Given the description of an element on the screen output the (x, y) to click on. 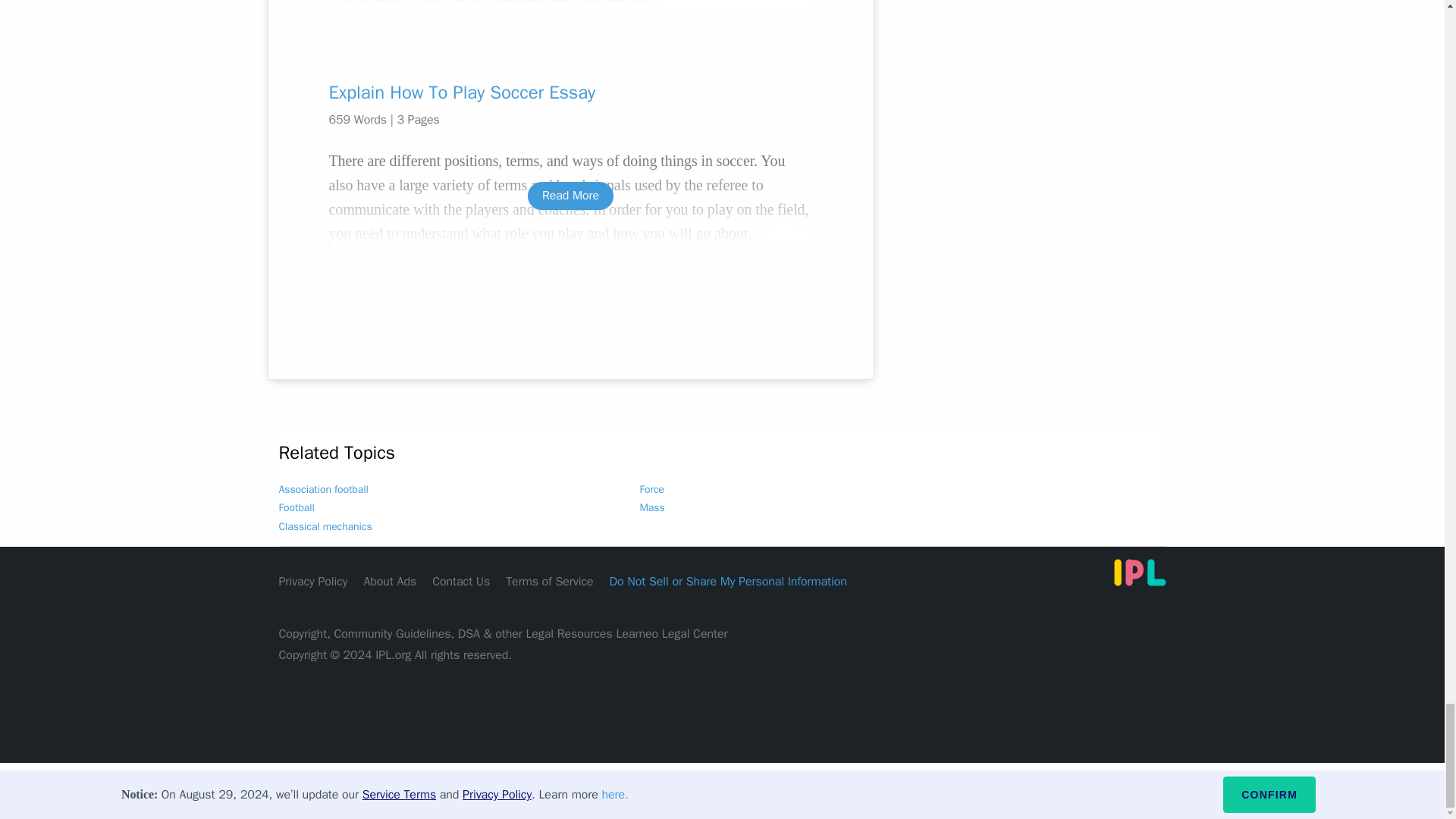
Mass (652, 507)
Classical mechanics (325, 526)
Force (652, 489)
Privacy Policy (313, 581)
Contact Us (460, 581)
Football (296, 507)
About Ads (389, 581)
Association football (323, 489)
Terms of Service (548, 581)
